Given the description of an element on the screen output the (x, y) to click on. 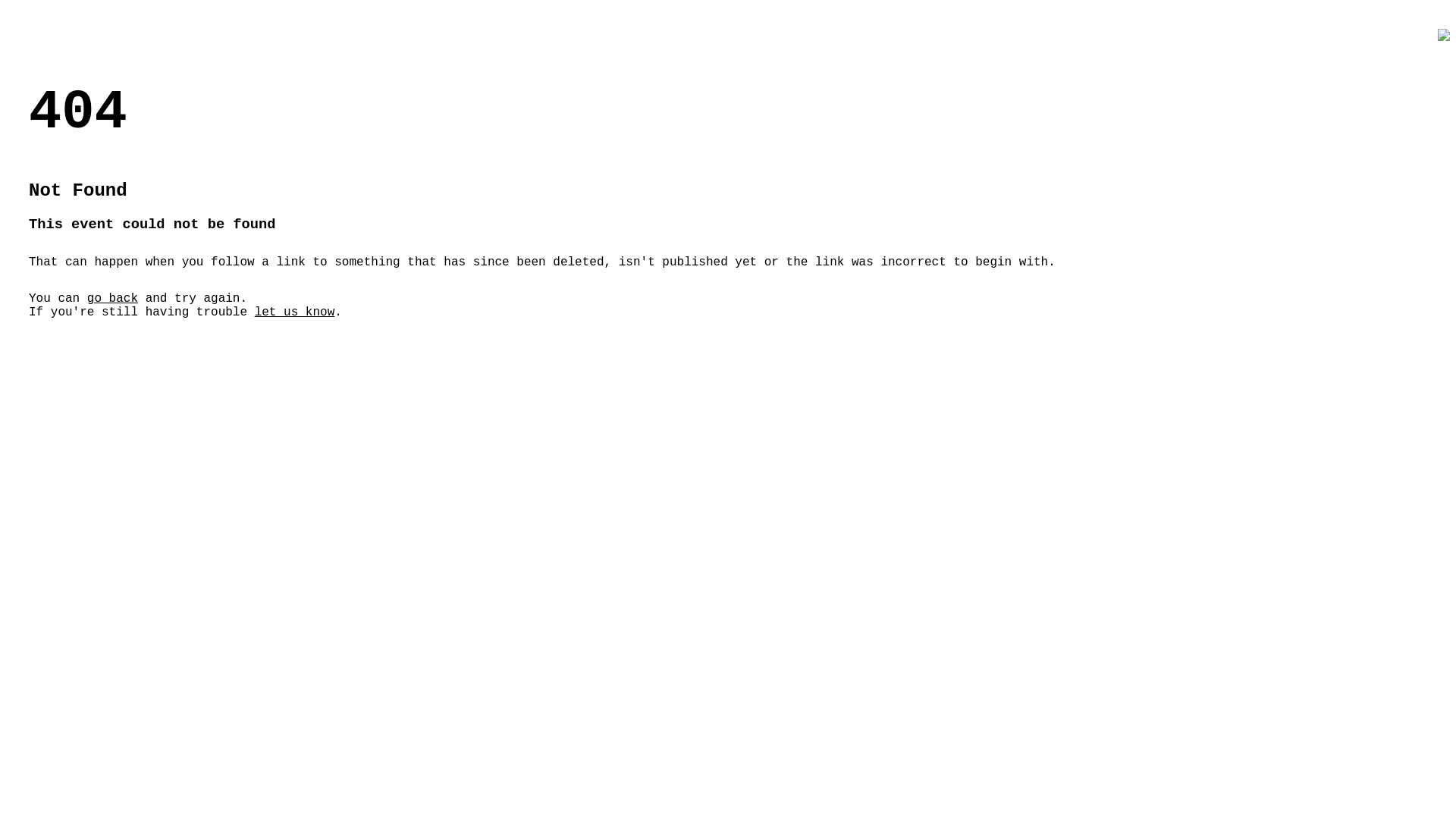
let us know Element type: text (294, 312)
go back Element type: text (112, 298)
